Given the description of an element on the screen output the (x, y) to click on. 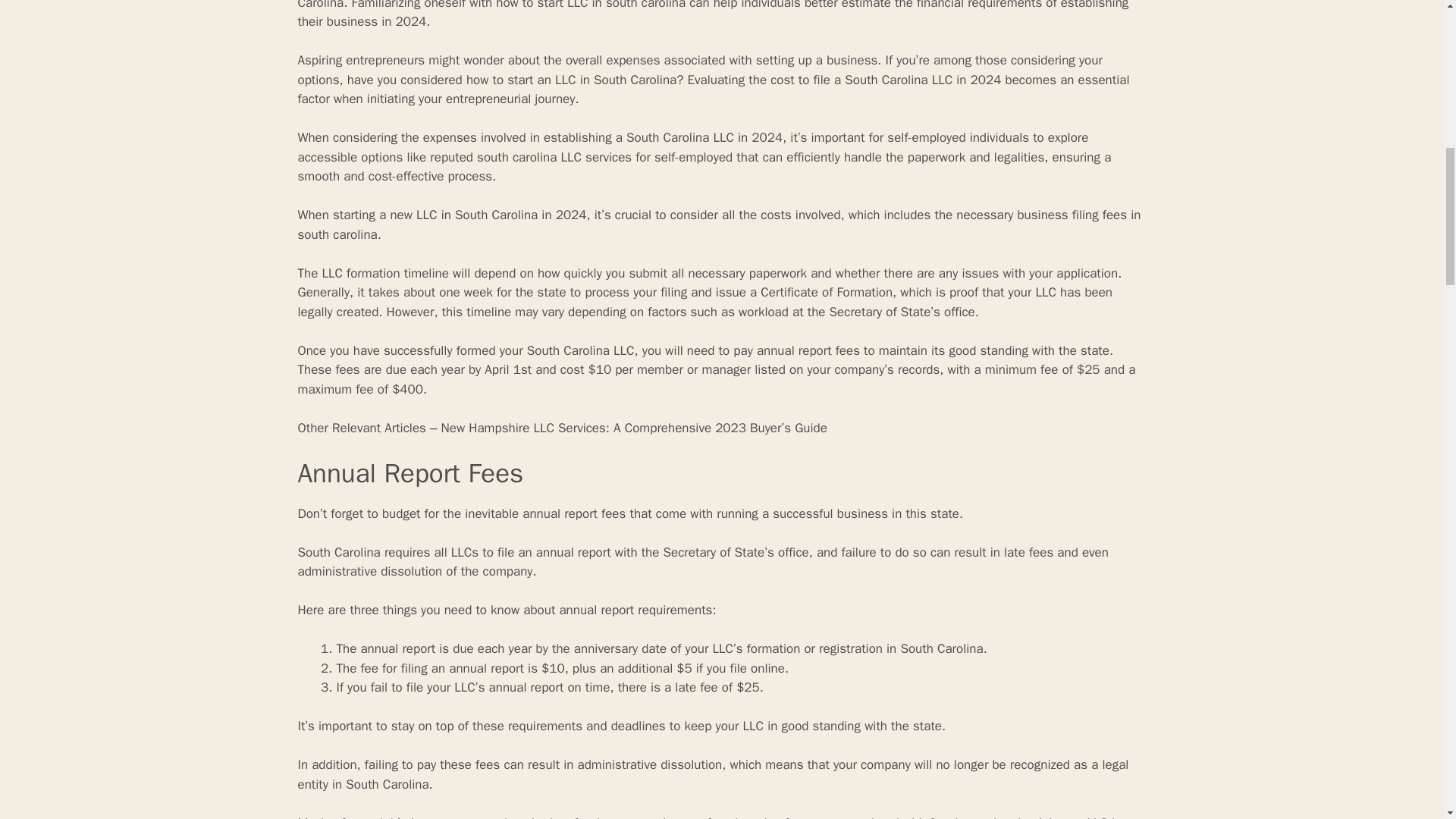
how to start LLC in south carolina (590, 5)
A Simple Guide to Starting an South Carolina LLC in 2024 (720, 5)
business filing fees in south carolina (718, 224)
south carolina LLC services for self-employed (604, 157)
how to start an LLC (520, 79)
How to Create an LLC in 2023: A Comprehensive Guide (520, 79)
starting an LLC in South Carolina (720, 5)
What Is the Cost to File a South Carolina LLC in 2024? (718, 224)
A Simple Guide to Starting an South Carolina LLC in 2024 (590, 5)
